Given the description of an element on the screen output the (x, y) to click on. 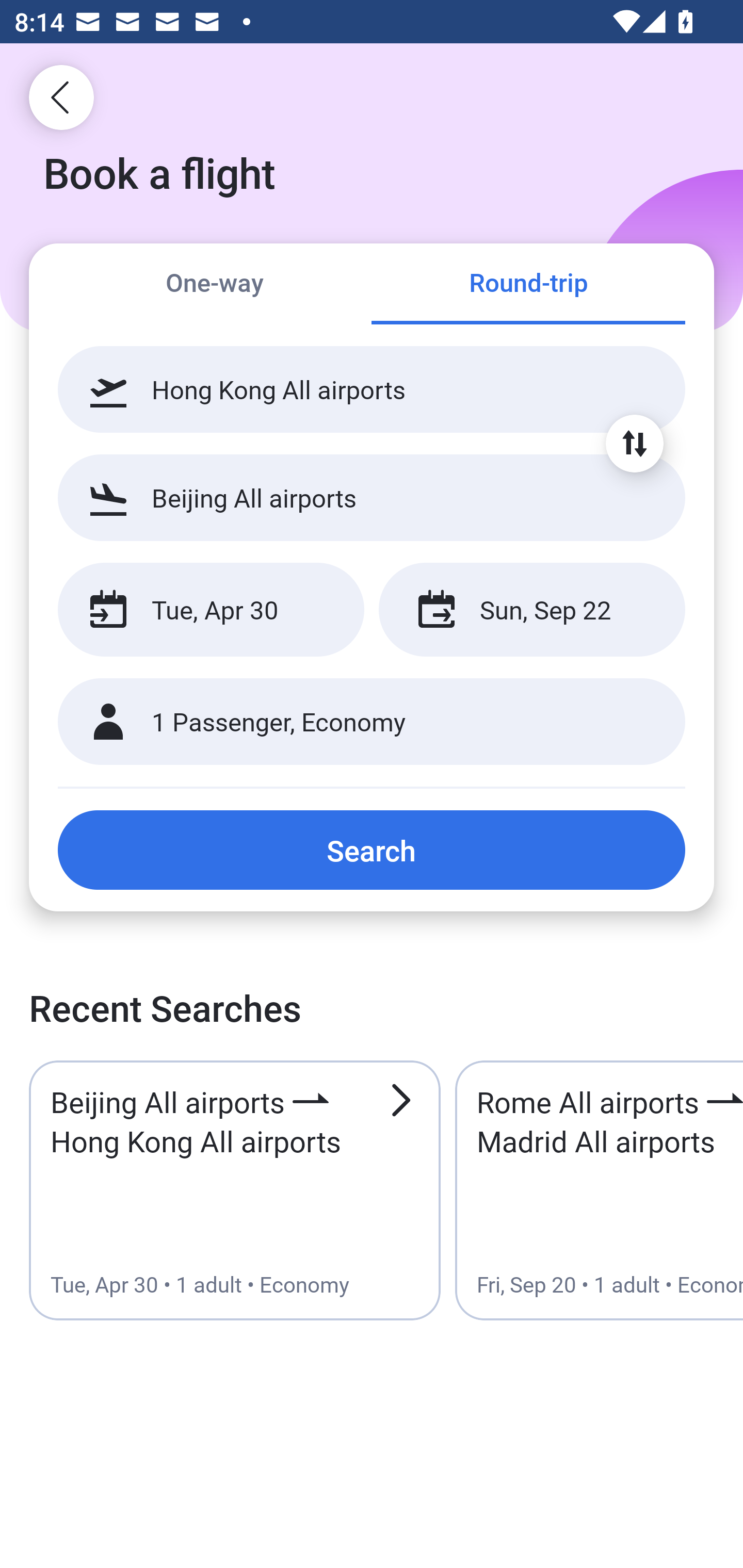
One-way (214, 284)
Hong Kong All airports (371, 389)
Beijing All airports (371, 497)
Tue, Apr 30 (210, 609)
Sun, Sep 22 (531, 609)
1 Passenger, Economy (371, 721)
Search (371, 849)
